Given the description of an element on the screen output the (x, y) to click on. 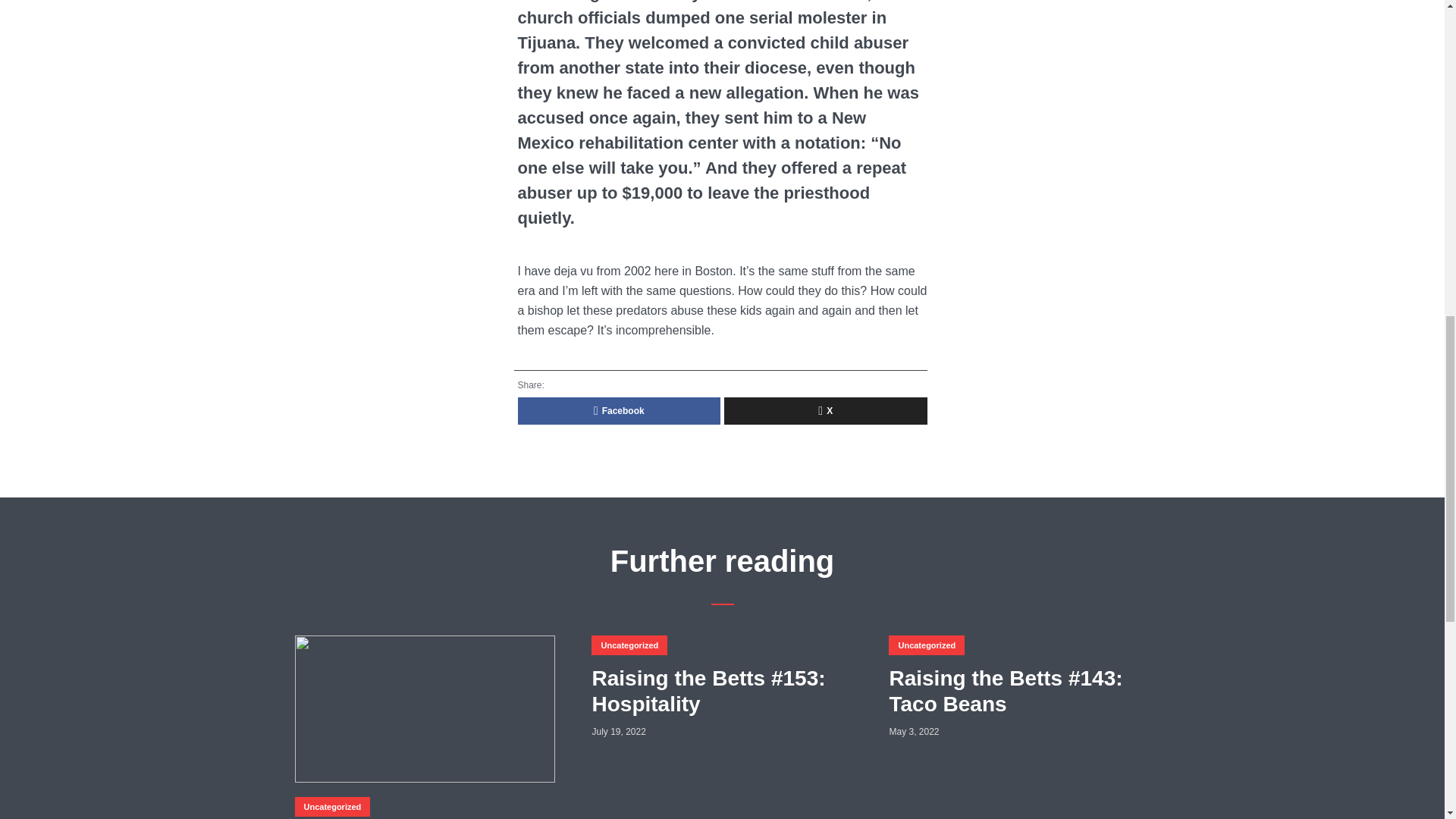
Uncategorized (331, 806)
Uncategorized (628, 645)
X (825, 411)
Facebook (618, 411)
Uncategorized (925, 645)
